Given the description of an element on the screen output the (x, y) to click on. 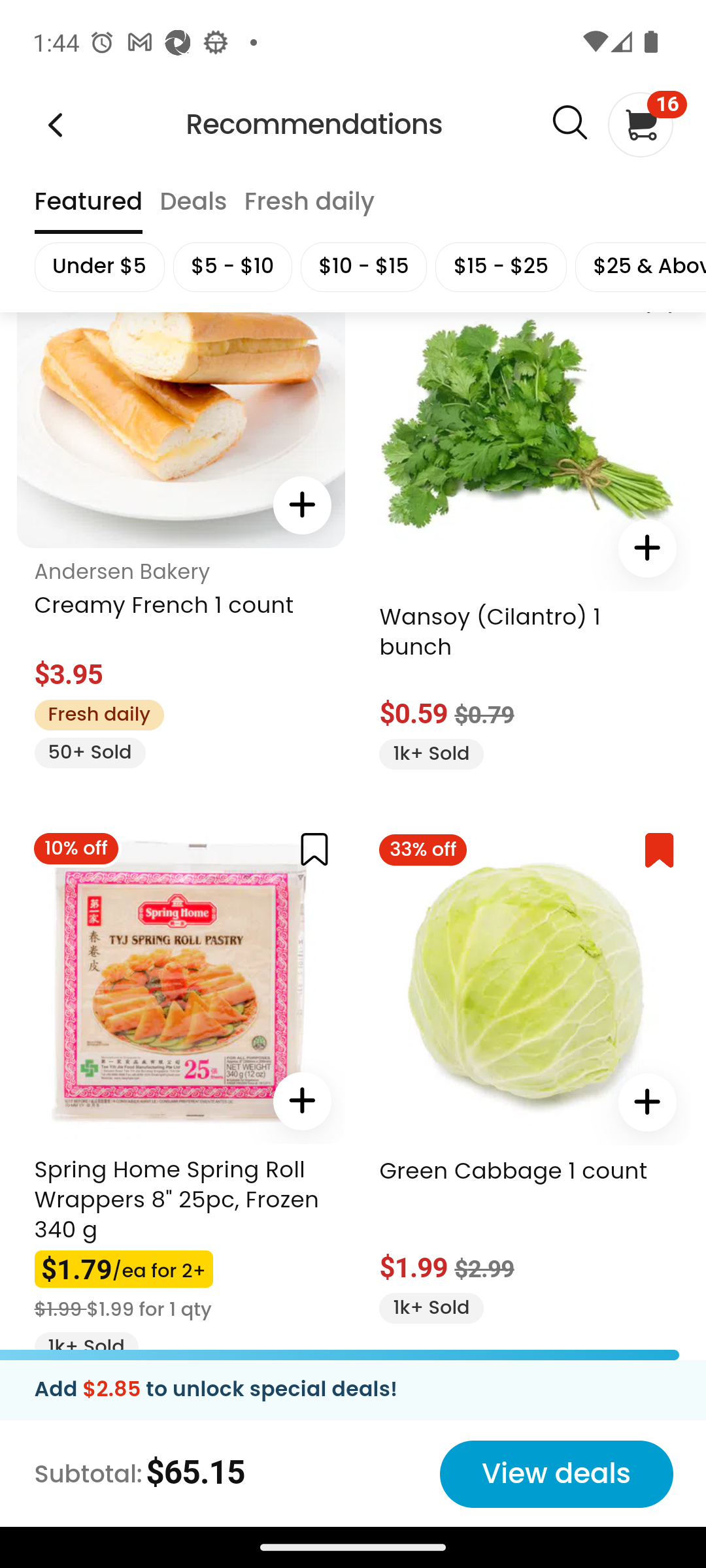
My cart 16 My cart (639, 125)
Weee! - Groceries Delivered (54, 125)
 (569, 126)
Featured (87, 210)
Deals (192, 210)
Fresh daily (308, 210)
Under $5 (97, 268)
$5 - $10 (231, 268)
$10 - $15 (362, 268)
$15 - $25 (500, 268)
$25 & Above (639, 268)
 (301, 506)
 (647, 548)
Fresh daily (97, 716)
 (313, 849)
 (659, 850)
 (301, 1101)
 (647, 1103)
View deals (556, 1475)
